Given the description of an element on the screen output the (x, y) to click on. 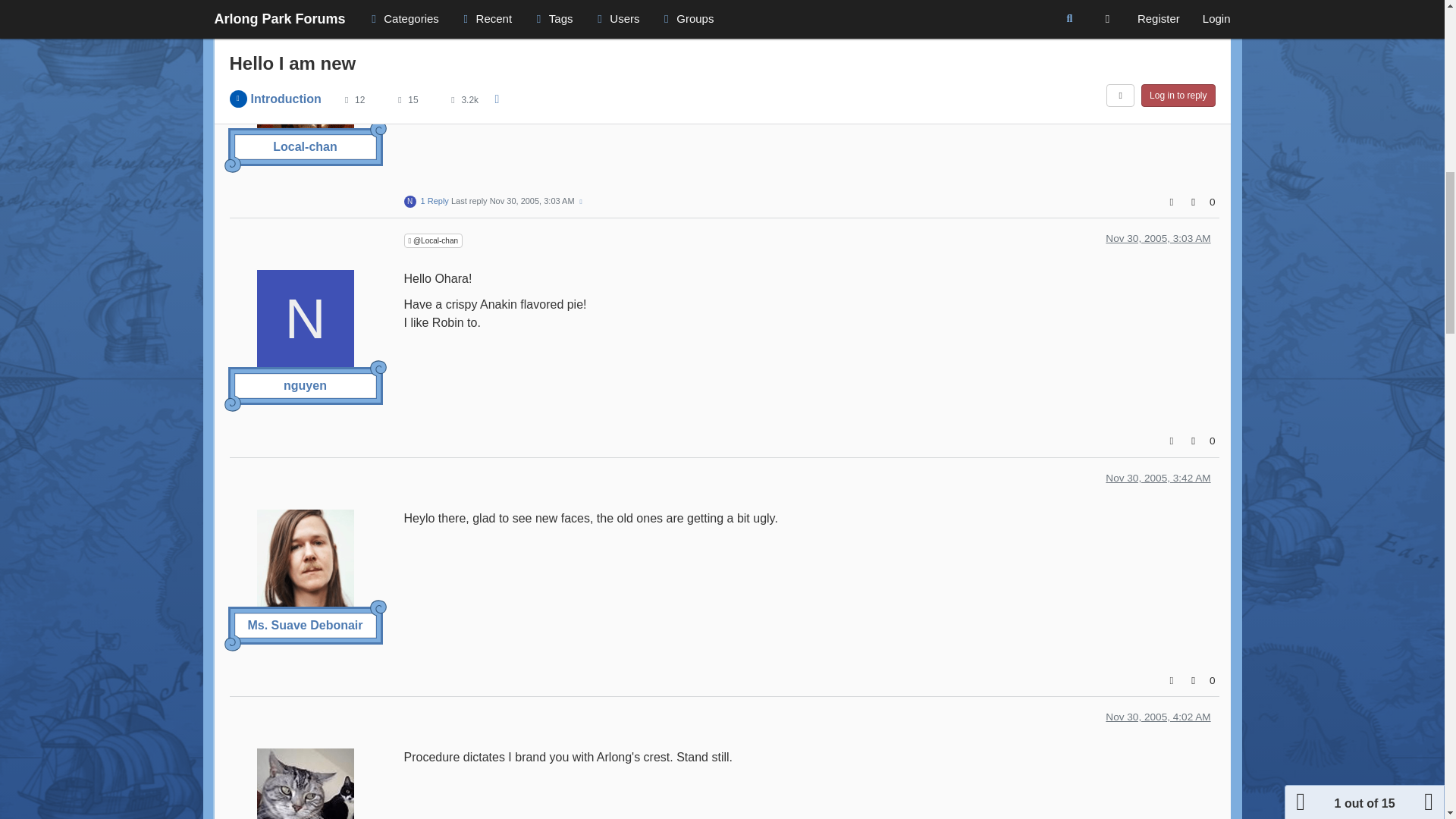
spiral (232, 164)
spiral (232, 642)
spiral (378, 607)
spiral (378, 368)
spiral (232, 402)
spiral (378, 129)
